Given the description of an element on the screen output the (x, y) to click on. 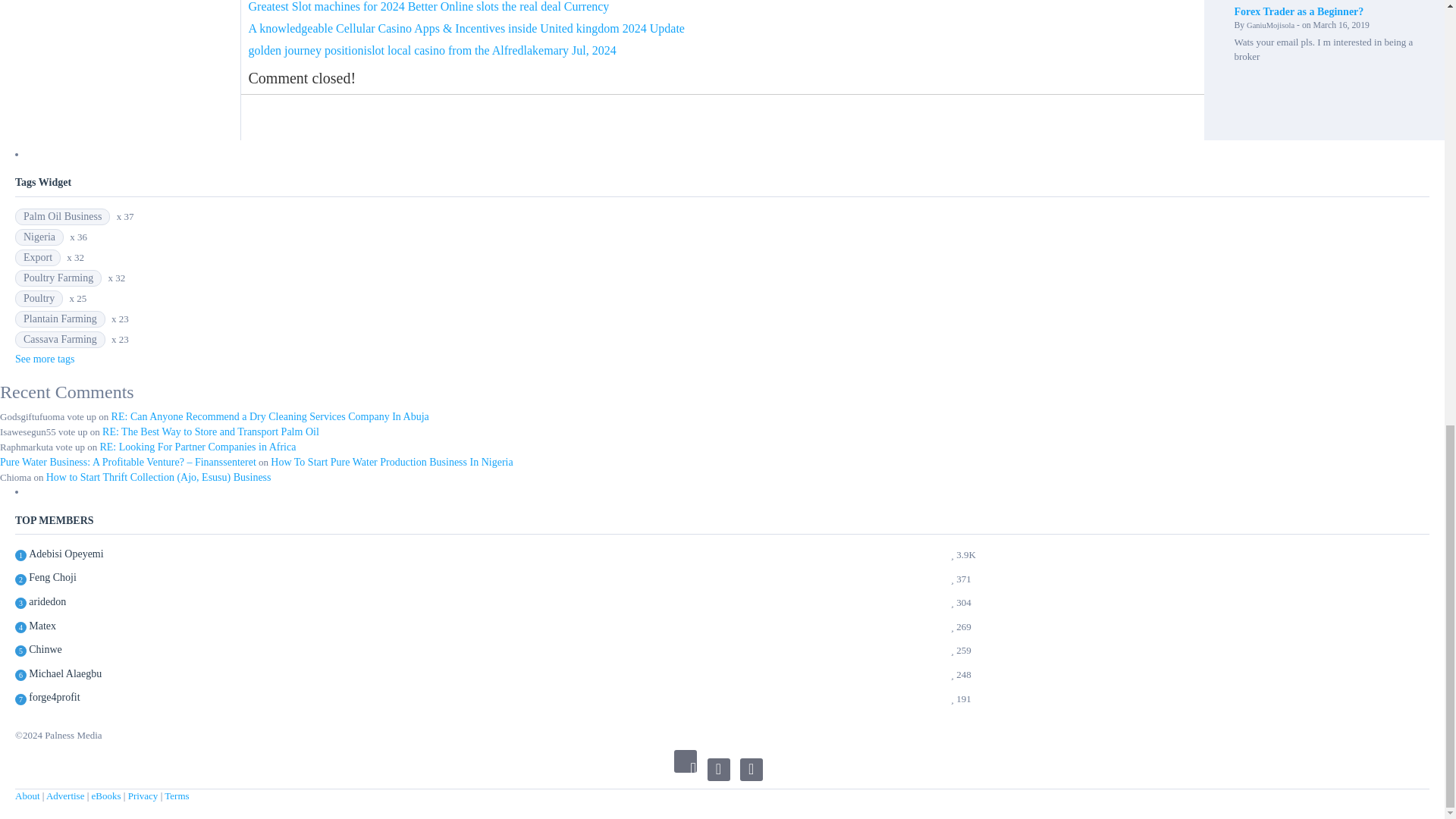
304 (47, 601)
269 (42, 625)
259 (45, 649)
371 (53, 577)
3907 (66, 553)
248 (65, 673)
